Given the description of an element on the screen output the (x, y) to click on. 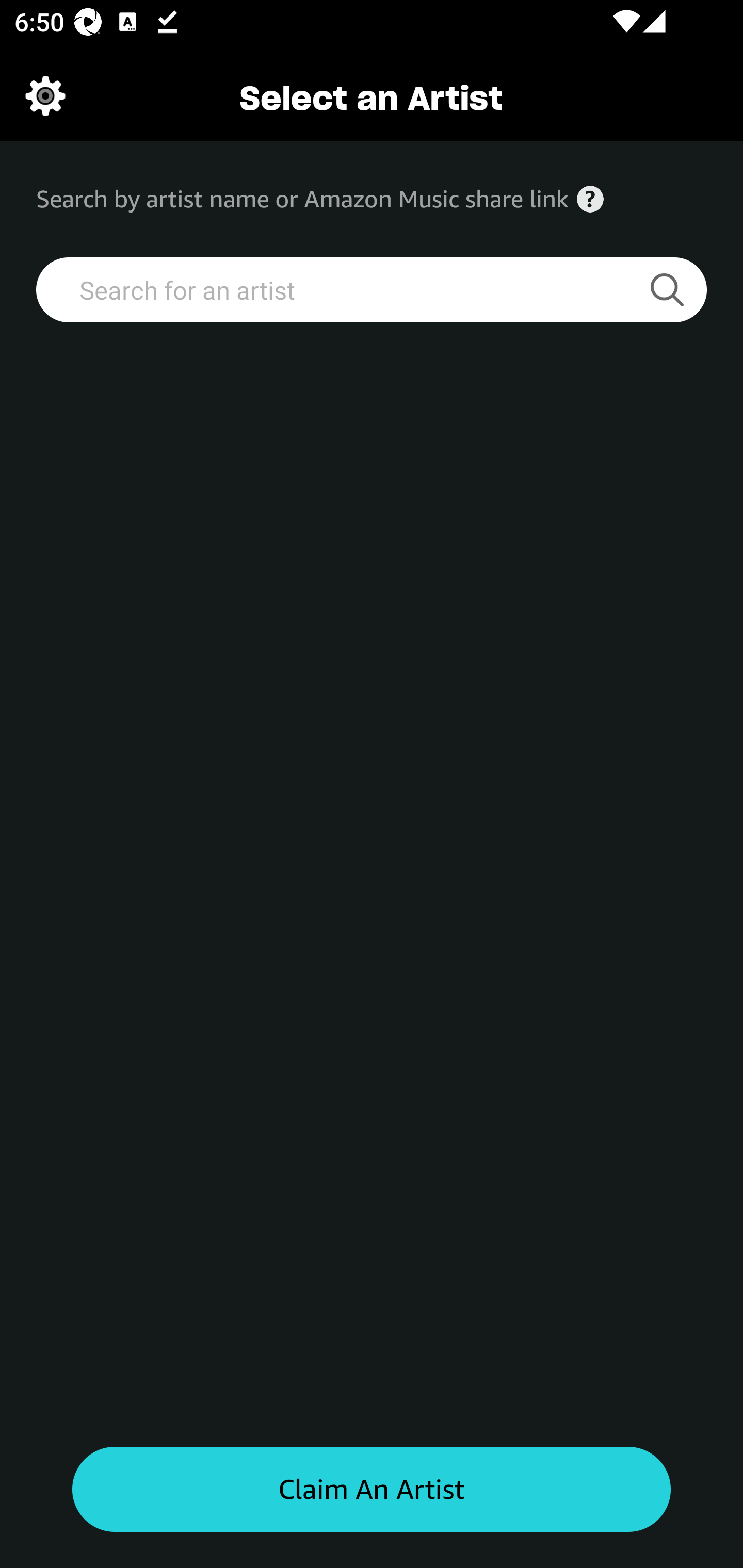
Help  icon (589, 199)
Claim an artist button Claim An Artist (371, 1489)
